Given the description of an element on the screen output the (x, y) to click on. 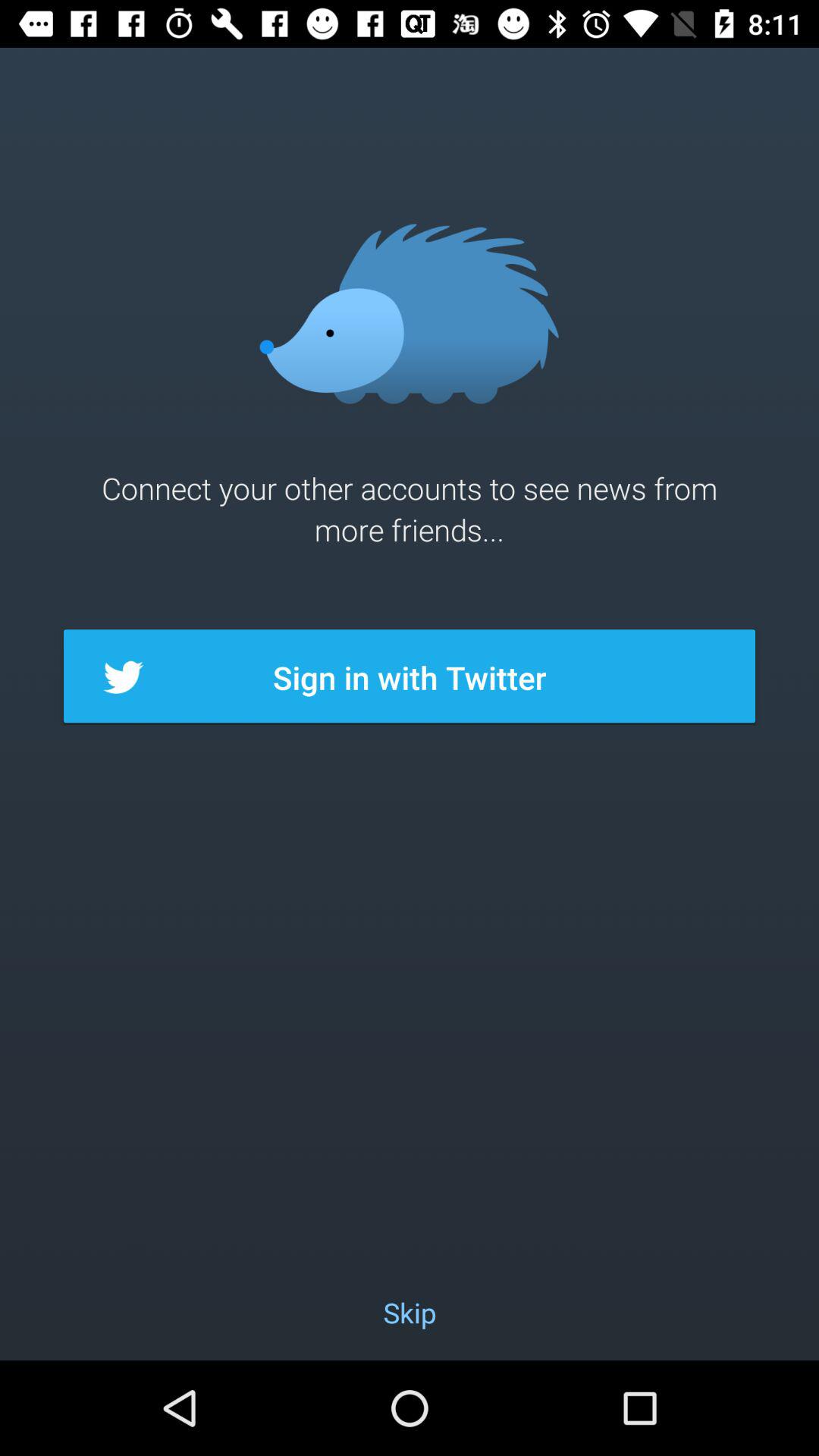
turn off icon below sign in with item (409, 1312)
